Given the description of an element on the screen output the (x, y) to click on. 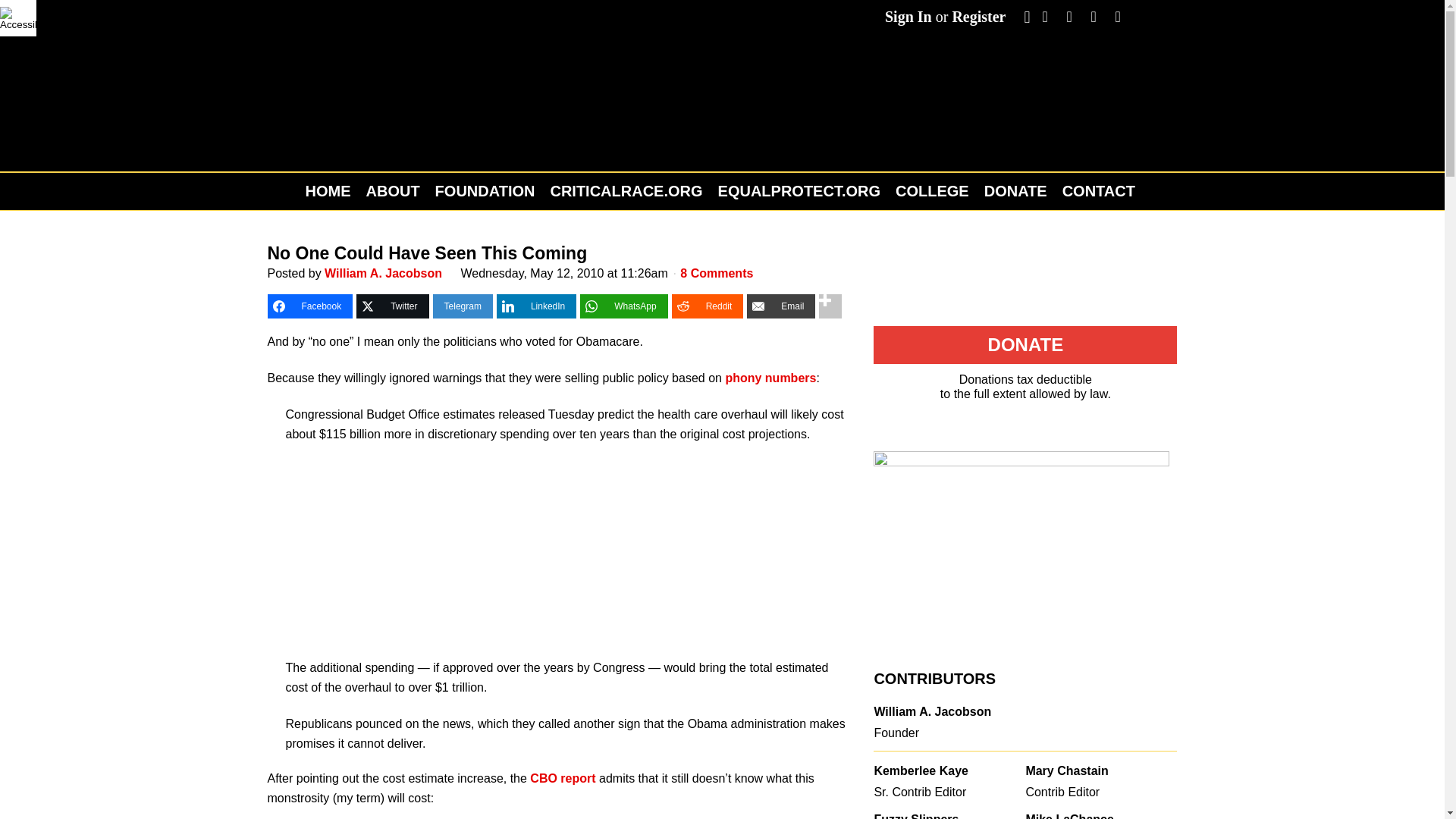
DONATE (1015, 190)
Share on Reddit (707, 306)
LinkedIn (536, 306)
COLLEGE (932, 190)
8 Comments (715, 273)
No One Could Have Seen This Coming (426, 252)
Reddit (707, 306)
No One Could Have Seen This Coming (426, 252)
William A. Jacobson (383, 273)
Share on Facebook (309, 306)
